Given the description of an element on the screen output the (x, y) to click on. 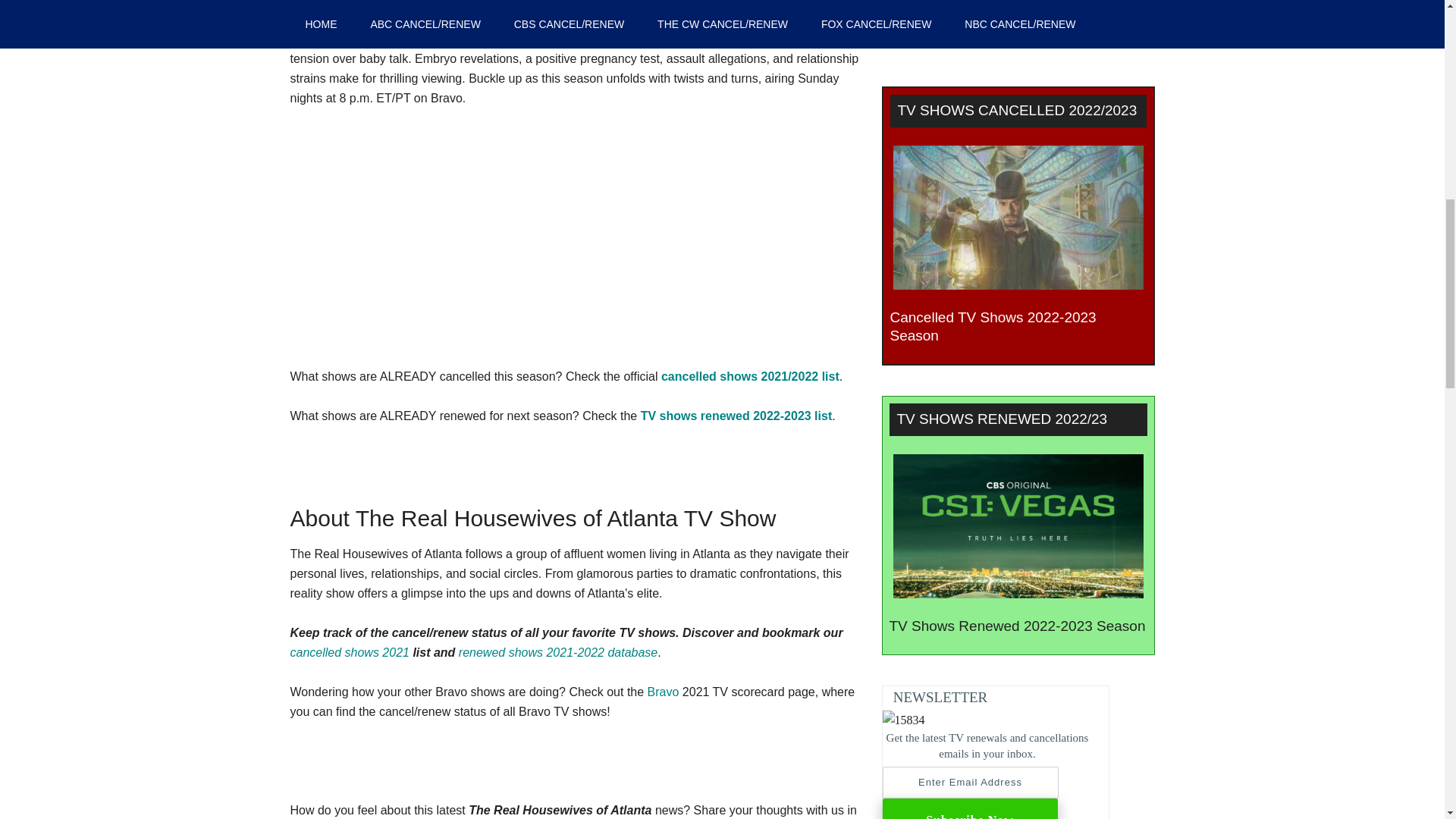
TV shows renewed 2022-2023 list (736, 415)
Bravo (663, 691)
cancelled shows 2021 (349, 652)
renewed shows 2021-2022 database (558, 652)
